Given the description of an element on the screen output the (x, y) to click on. 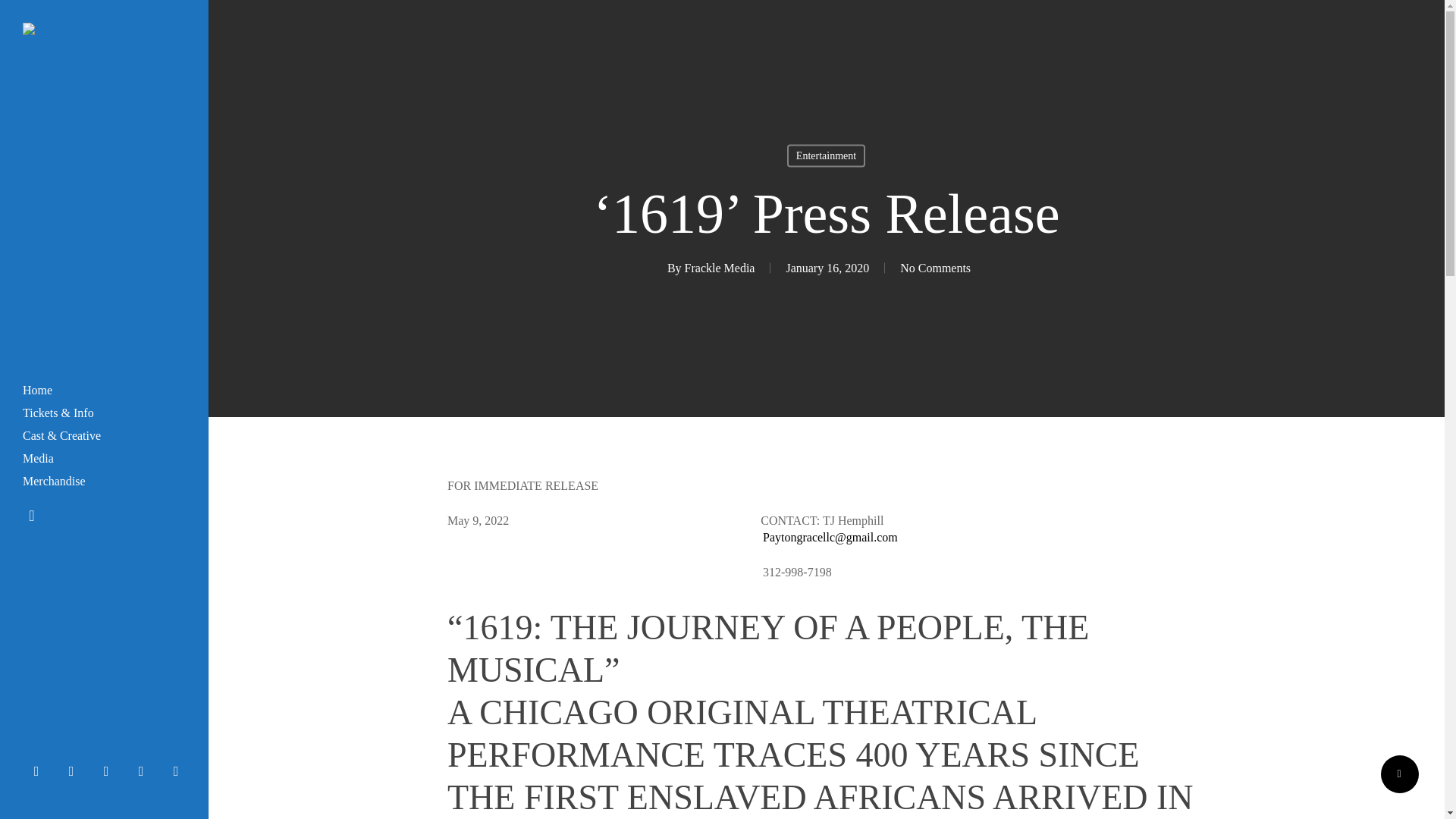
email (178, 770)
twitter (40, 770)
Entertainment (825, 155)
search (31, 515)
facebook (75, 770)
Posts by Frackle Media (719, 267)
instagram (144, 770)
No Comments (935, 267)
Frackle Media (719, 267)
Home (37, 390)
